Given the description of an element on the screen output the (x, y) to click on. 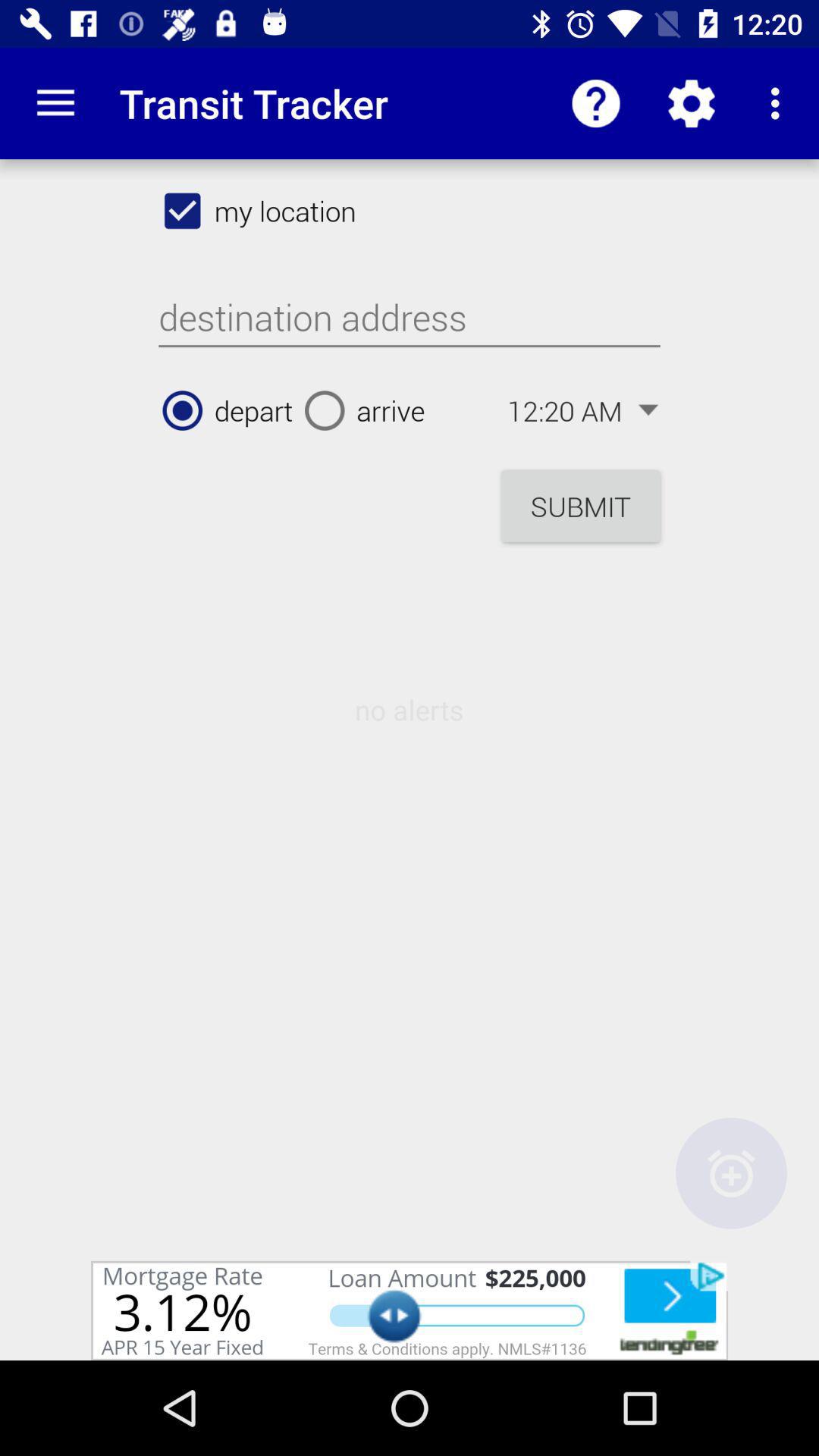
enter destination address (409, 317)
